Given the description of an element on the screen output the (x, y) to click on. 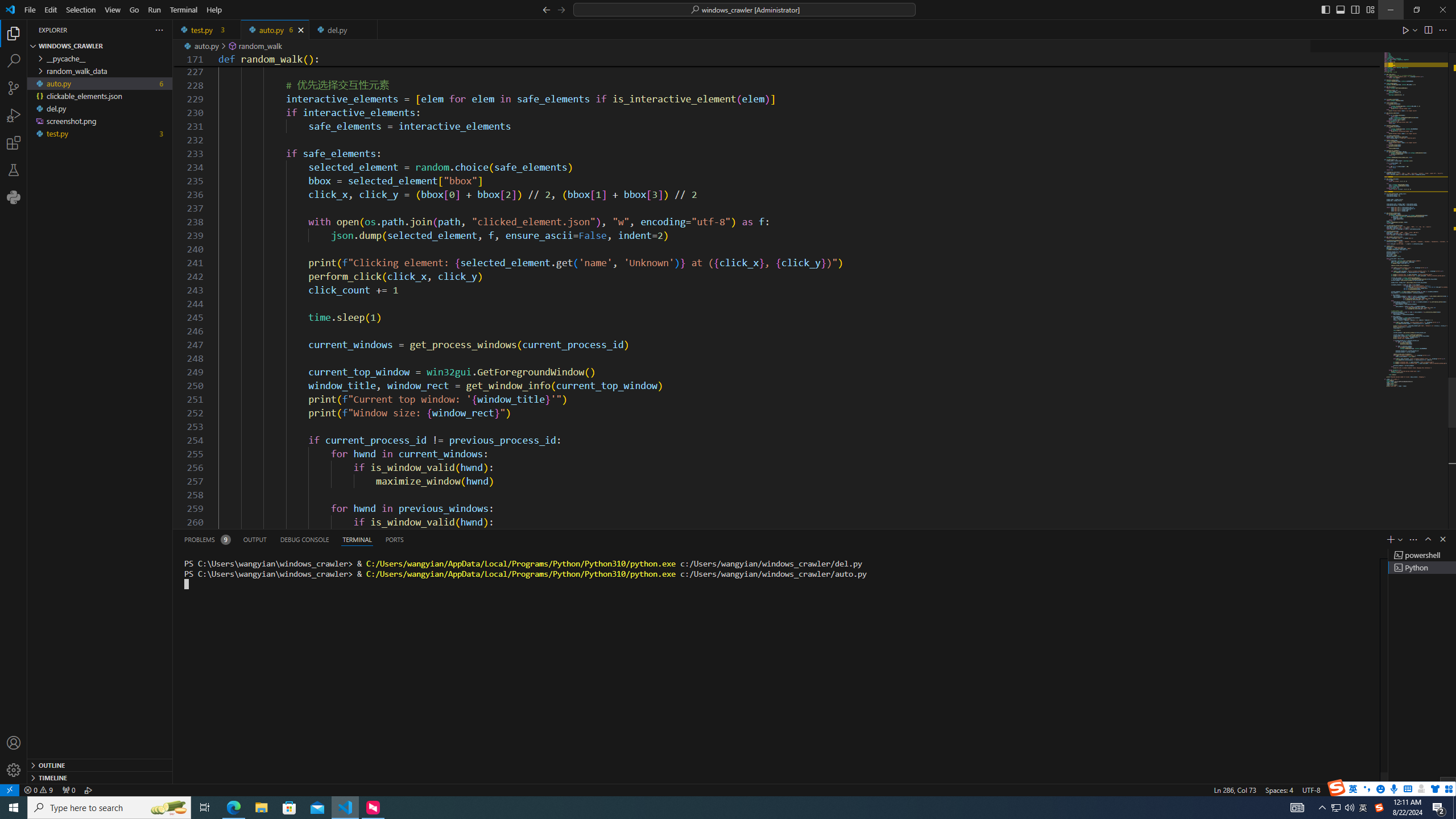
Search (Ctrl+Shift+F) (13, 60)
Split Editor Right (Ctrl+\) [Alt] Split Editor Down (1428, 29)
File (30, 9)
Accounts (13, 742)
test.py (207, 29)
Edit (50, 9)
Terminal (183, 9)
Toggle Primary Side Bar (Ctrl+B) (1325, 9)
Python (13, 197)
Debug:  (88, 789)
Debug Console (Ctrl+Shift+Y) (304, 539)
remote (9, 789)
